Given the description of an element on the screen output the (x, y) to click on. 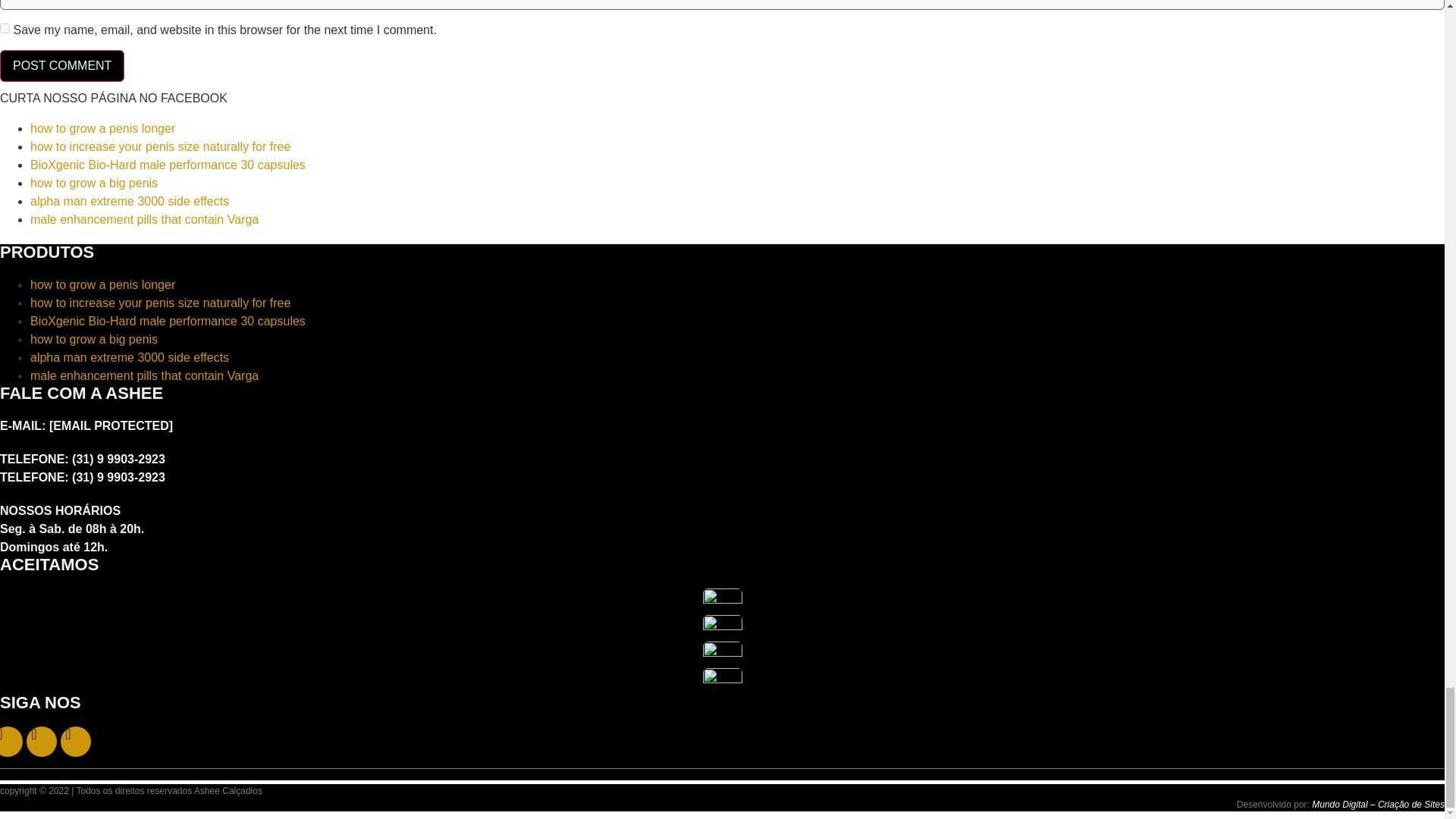
alpha man extreme 3000 side effects (129, 201)
how to grow a penis longer (102, 128)
male enhancement pills that contain Varga (144, 219)
BioXgenic Bio-Hard male performance 30 capsules (167, 320)
yes (5, 28)
how to grow a penis longer (102, 284)
BioXgenic Bio-Hard male performance 30 capsules (167, 164)
how to grow a big penis (93, 338)
Post Comment (61, 65)
how to grow a big penis (93, 182)
